Given the description of an element on the screen output the (x, y) to click on. 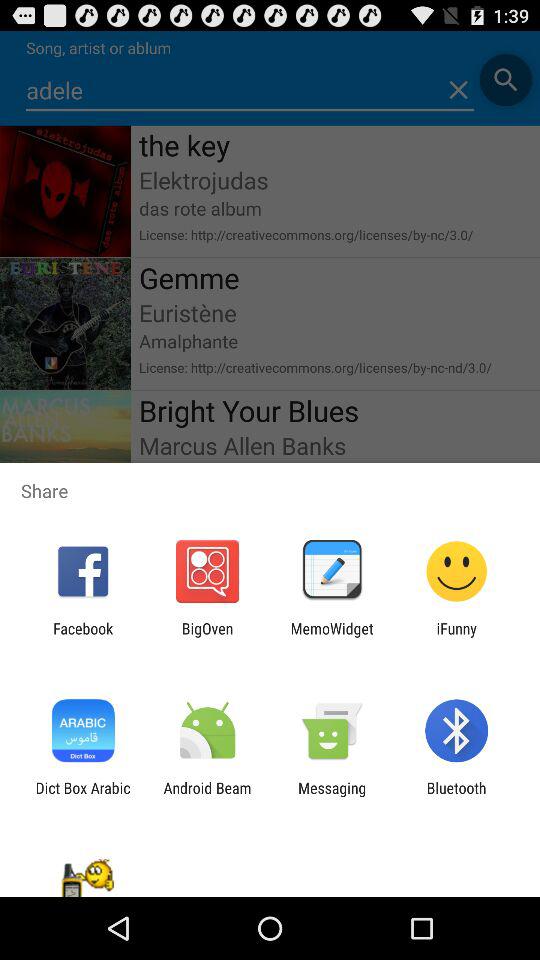
click the icon to the right of facebook item (207, 637)
